Given the description of an element on the screen output the (x, y) to click on. 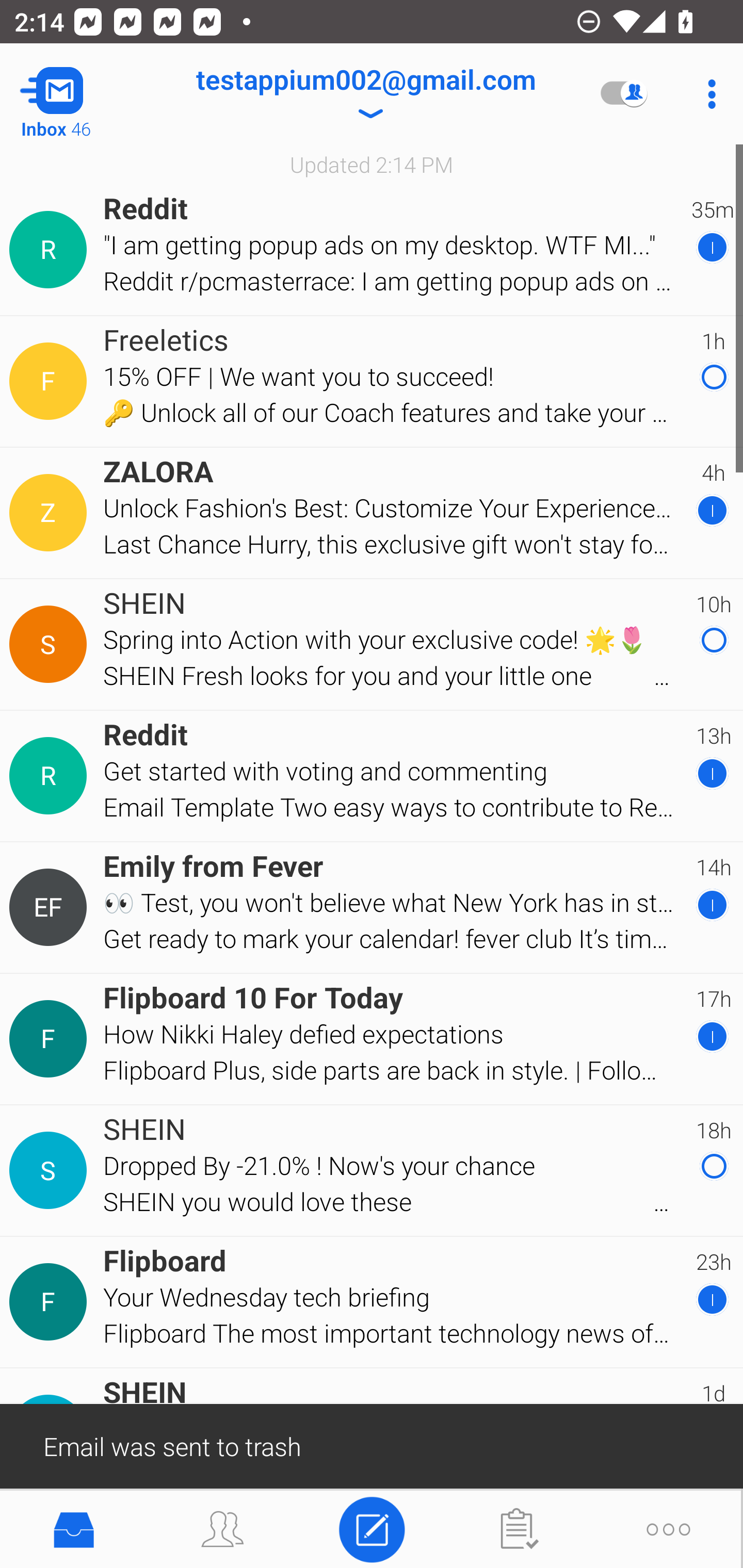
Navigate up (81, 93)
testappium002@gmail.com (365, 93)
More Options (706, 93)
Updated 2:14 PM (371, 164)
Contact Details (50, 250)
Contact Details (50, 381)
Contact Details (50, 513)
Contact Details (50, 644)
Contact Details (50, 776)
Contact Details (50, 907)
Contact Details (50, 1038)
Contact Details (50, 1170)
Contact Details (50, 1302)
Email was sent to trash (371, 1445)
Compose (371, 1528)
